Given the description of an element on the screen output the (x, y) to click on. 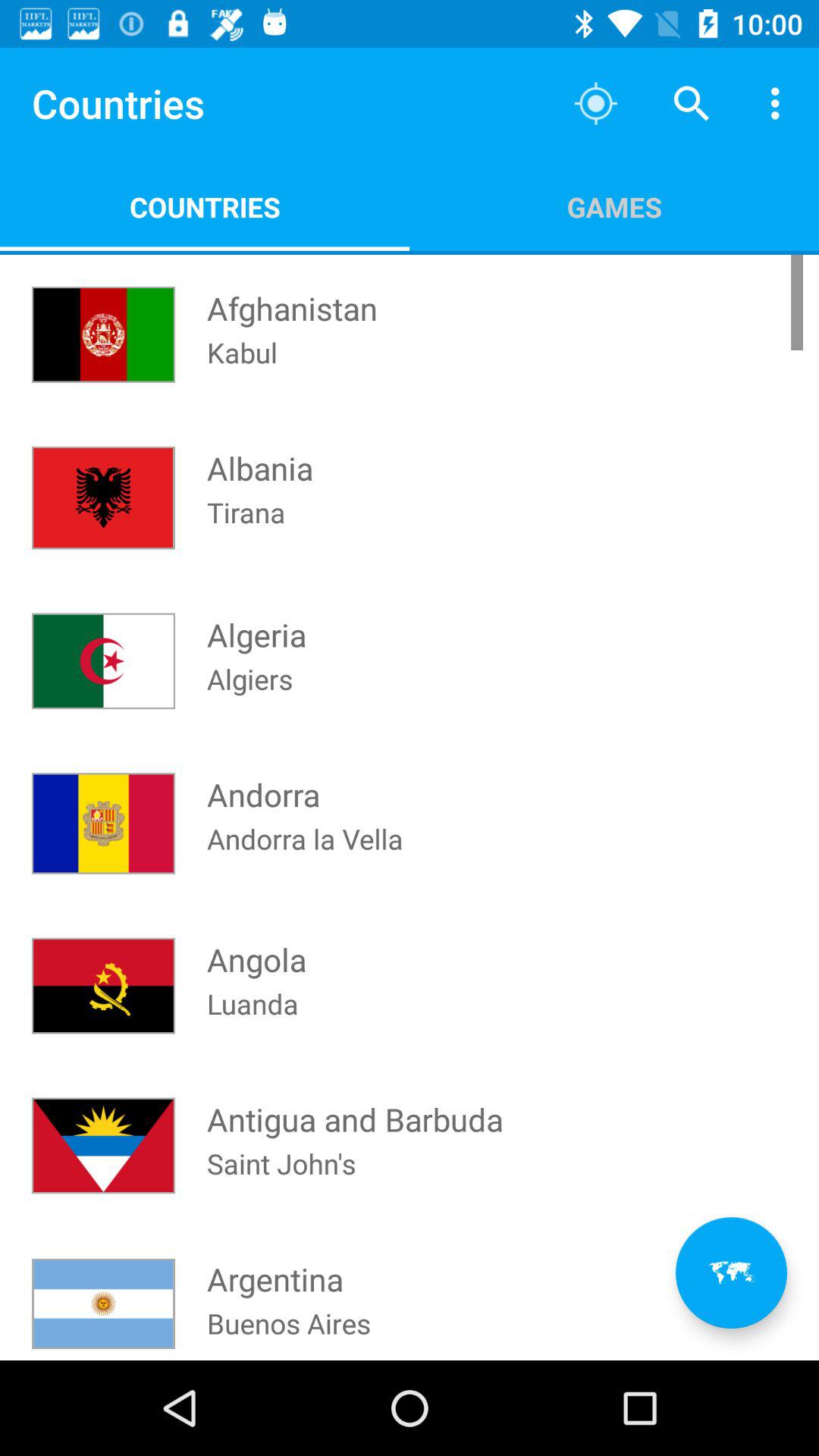
jump to the saint john's (281, 1183)
